Given the description of an element on the screen output the (x, y) to click on. 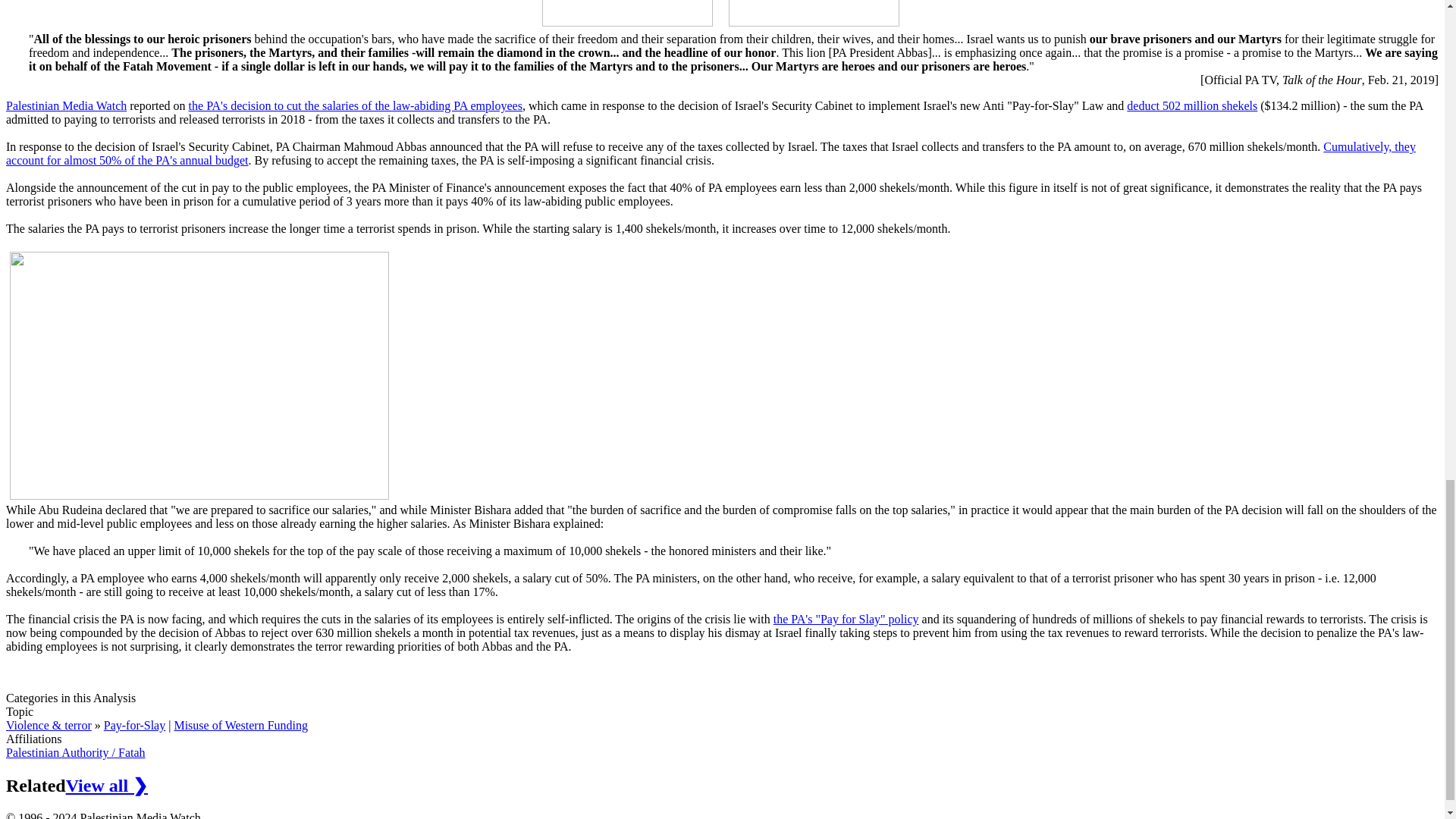
Palestinian Media Watch (65, 105)
deduct 502 million shekels (1191, 105)
the PA's "Pay for Slay" policy (845, 618)
Misuse of Western Funding (240, 725)
Pay-for-Slay (134, 725)
